Given the description of an element on the screen output the (x, y) to click on. 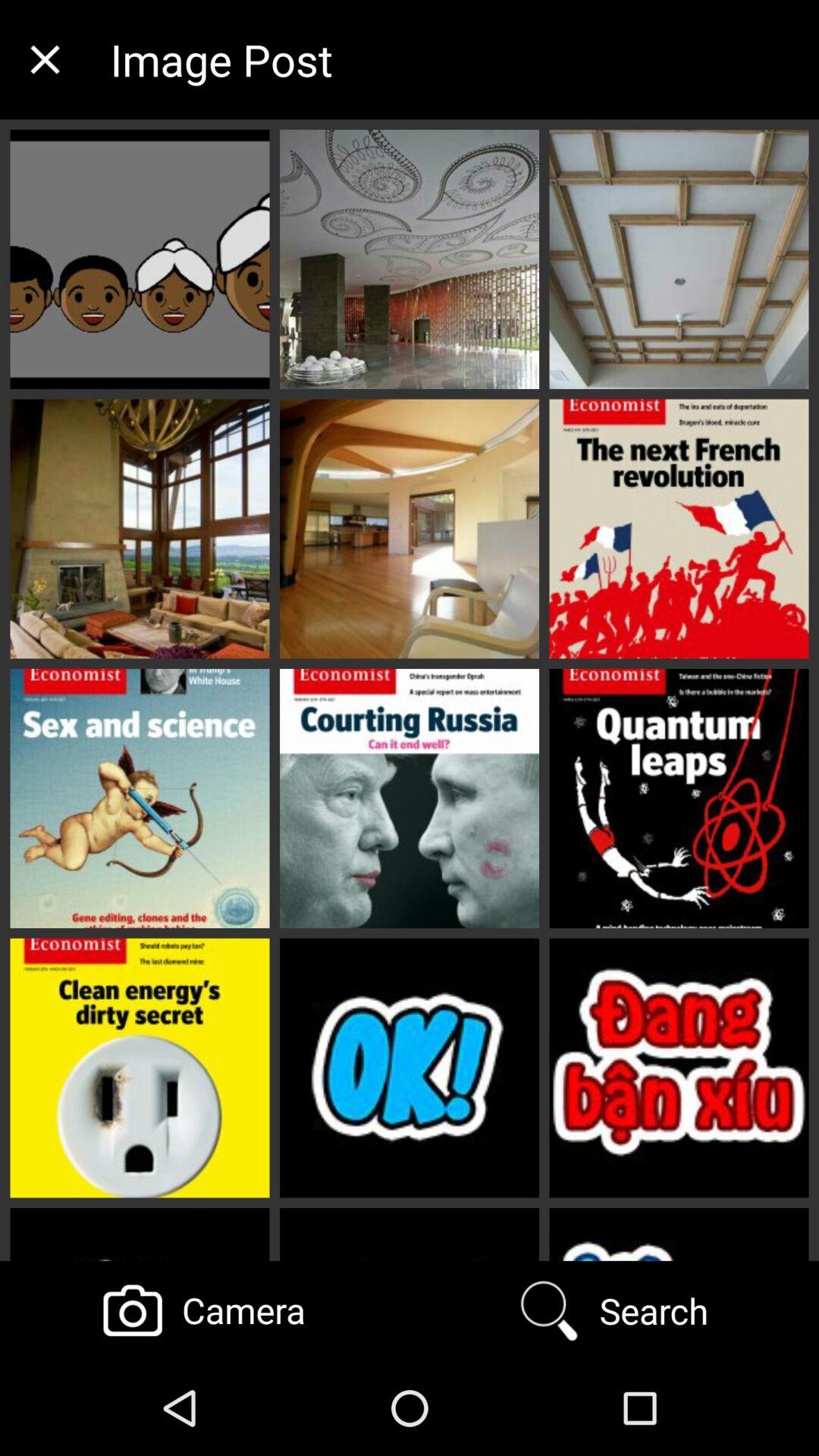
select the 2nd image below the close button on the web page (140, 528)
select the image on the bottom right corner of the web page (679, 1068)
click on the image which is right to clean energys dirty secret image at bottom of the page (409, 1068)
select the image second row middle one (409, 528)
consider the middle pic in the first row (409, 258)
click on the cross mark at top left corner of the page (44, 59)
select the image from the second row right corner (679, 528)
